Given the description of an element on the screen output the (x, y) to click on. 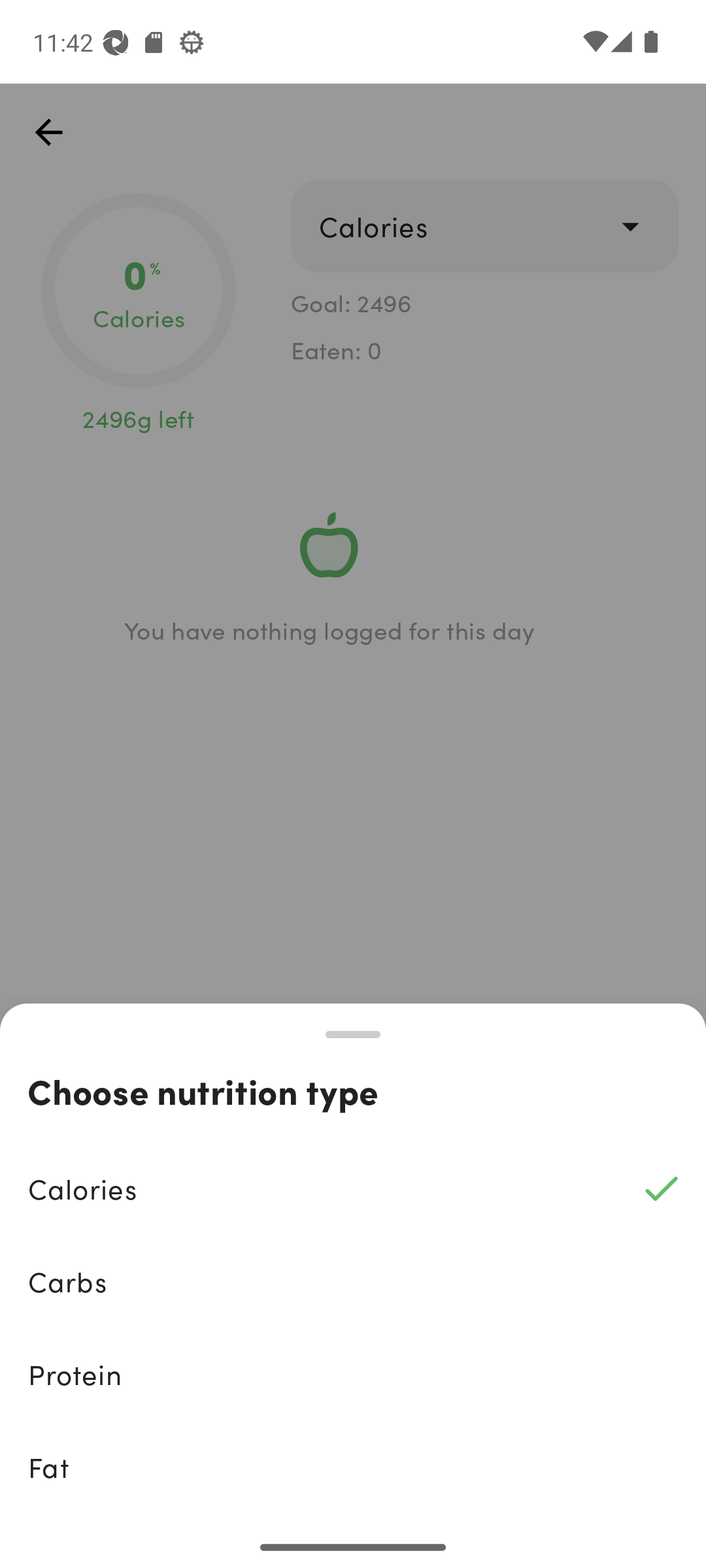
bottom_sheet_option Carbs bottom_sheet_option_text (353, 1281)
bottom_sheet_option Fat bottom_sheet_option_text (353, 1466)
